Given the description of an element on the screen output the (x, y) to click on. 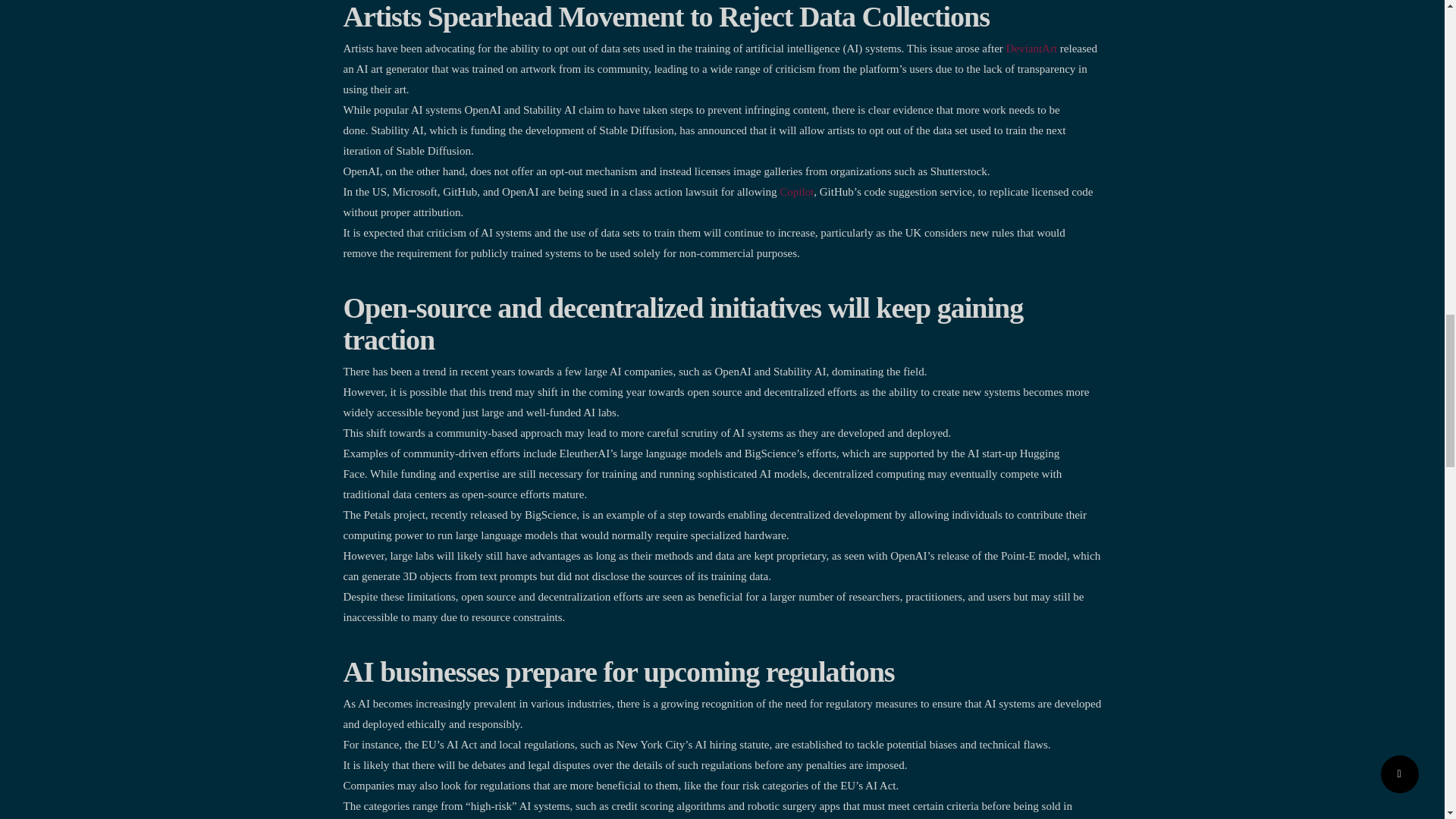
DeviantArt (1031, 48)
Copilot (795, 191)
